Given the description of an element on the screen output the (x, y) to click on. 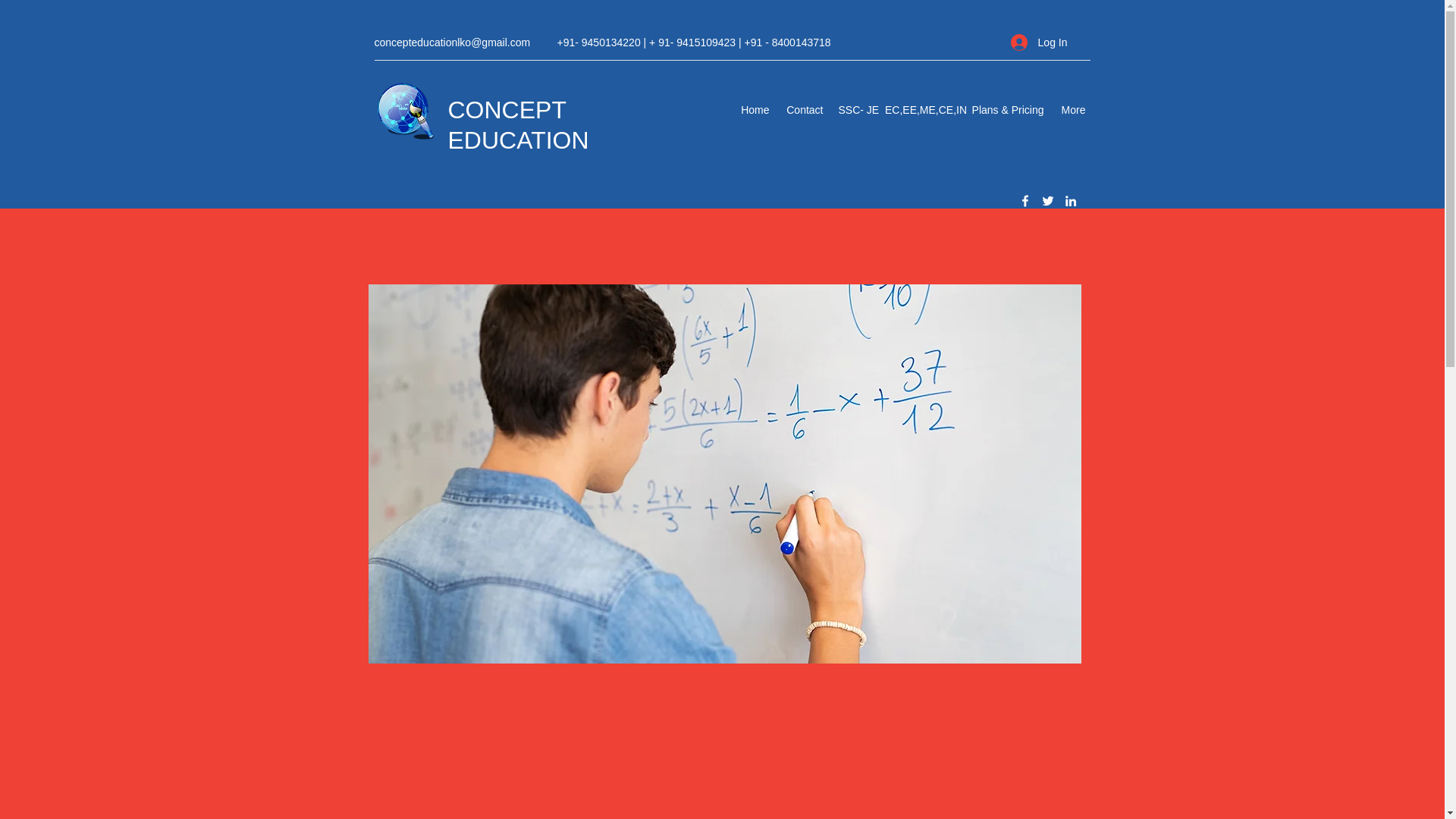
Log In (1039, 42)
Home (754, 109)
SSC- JE  EC,EE,ME,CE,IN (895, 109)
Contact (802, 109)
